Given the description of an element on the screen output the (x, y) to click on. 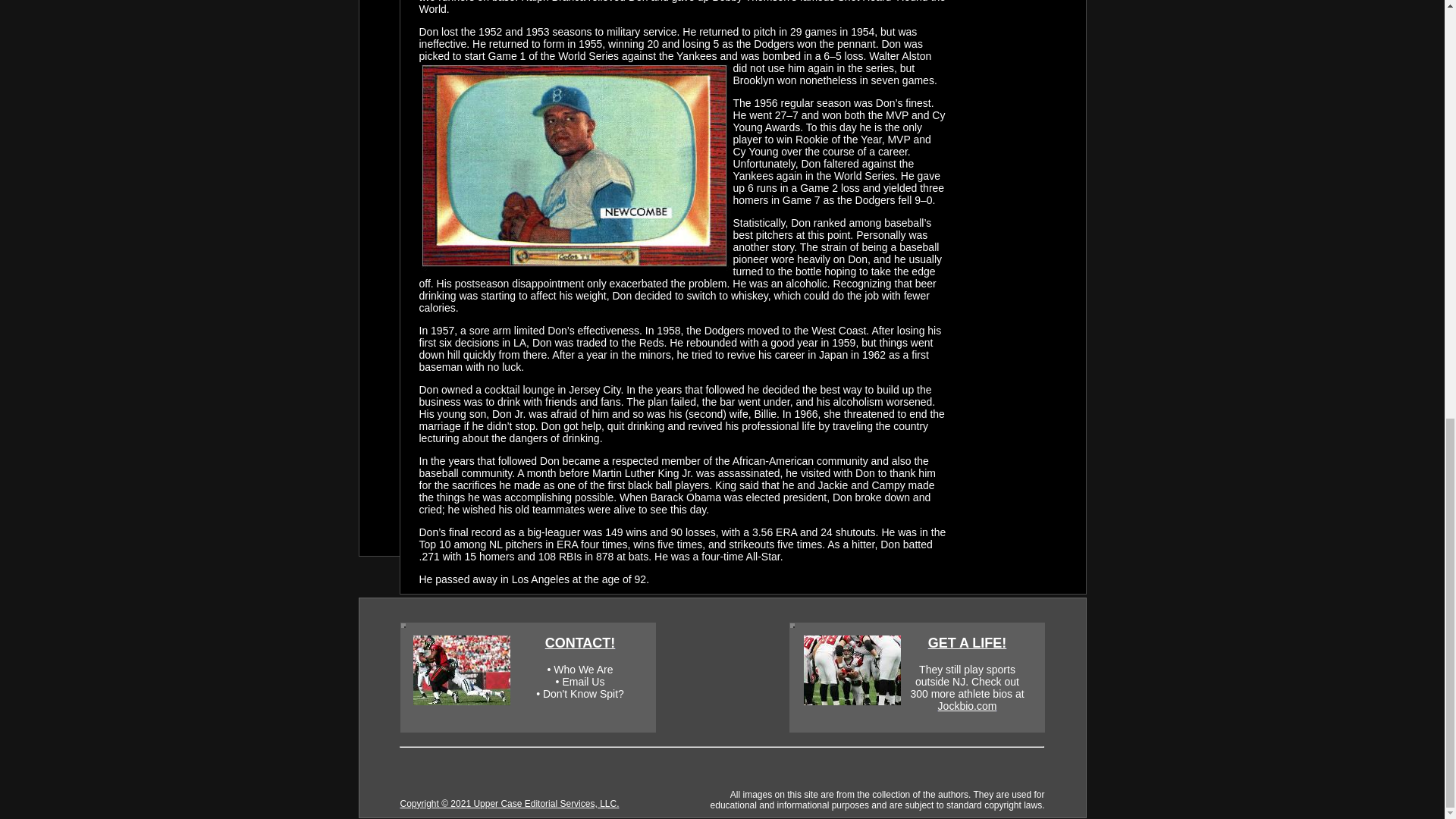
GET A LIFE! (967, 642)
CONTACT! (579, 642)
Jockbio.com (967, 705)
